Given the description of an element on the screen output the (x, y) to click on. 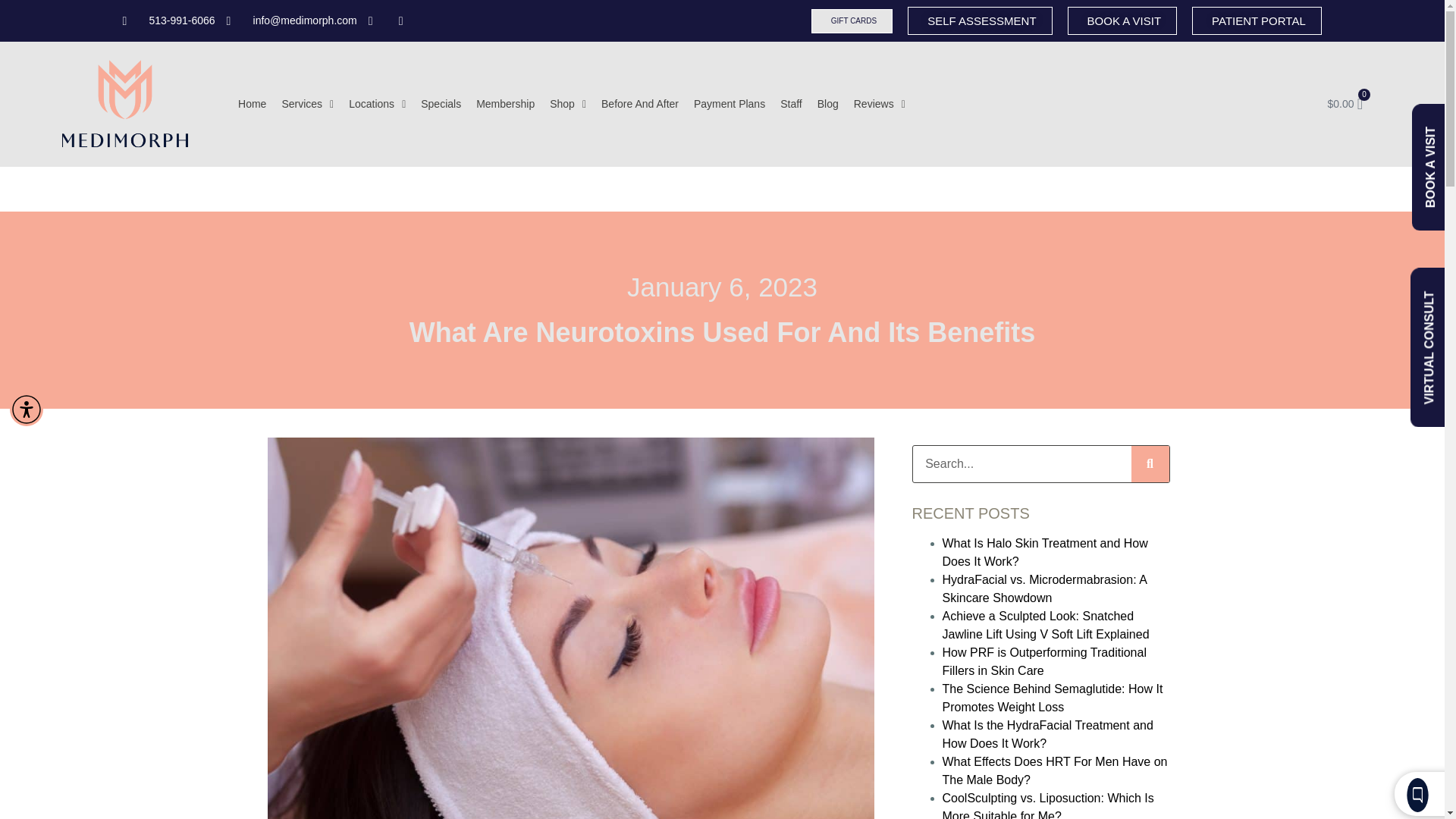
513-991-6066 (168, 20)
Home (251, 103)
BOOK A VISIT (1122, 20)
PATIENT PORTAL (1257, 20)
SELF ASSESSMENT (979, 20)
Accessibility Menu (26, 409)
Services (306, 103)
GIFT CARDS (851, 21)
